Given the description of an element on the screen output the (x, y) to click on. 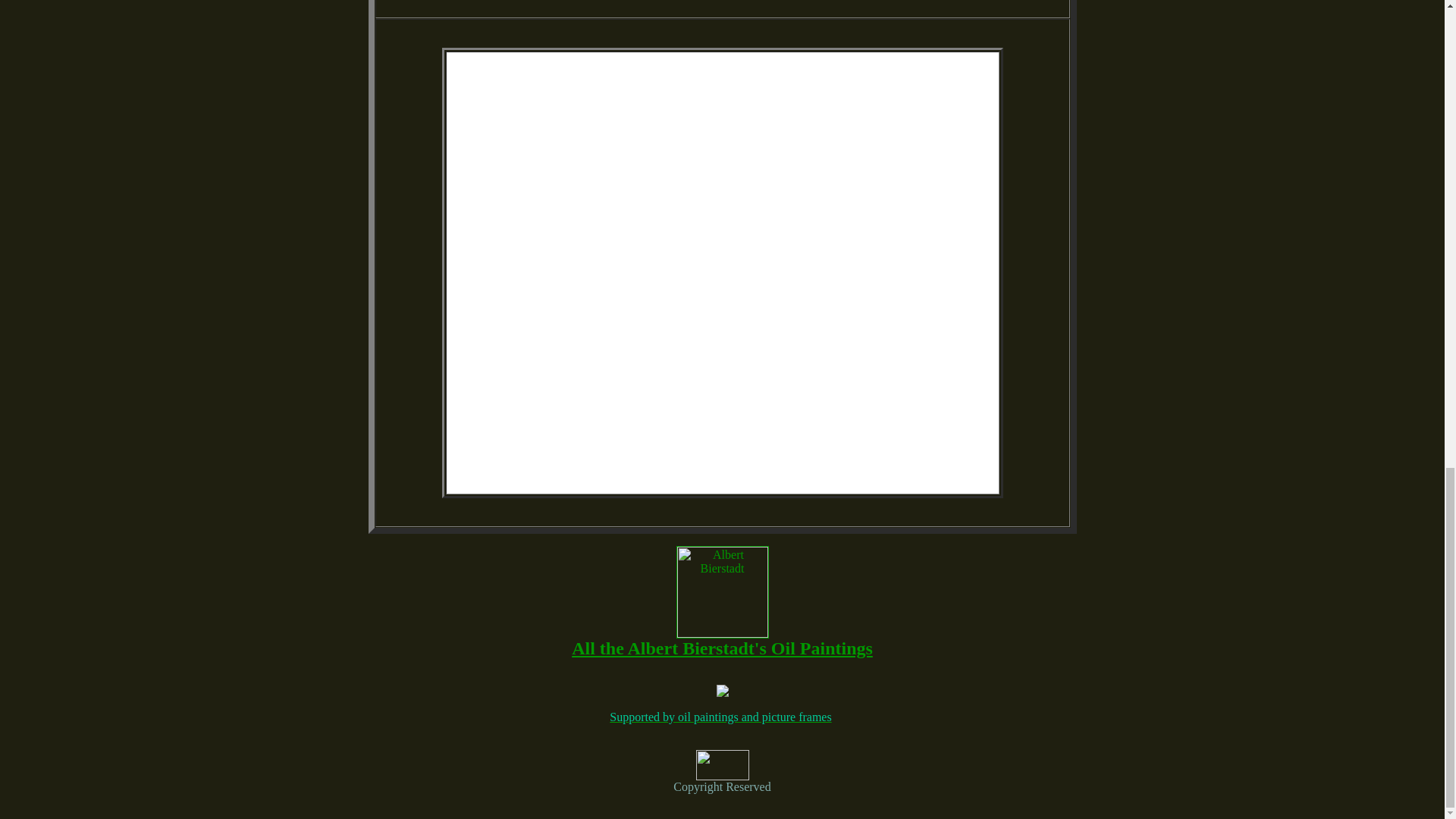
Supported by oil paintings and picture frames (720, 716)
All the Albert Bierstadt's Oil Paintings (722, 648)
